Given the description of an element on the screen output the (x, y) to click on. 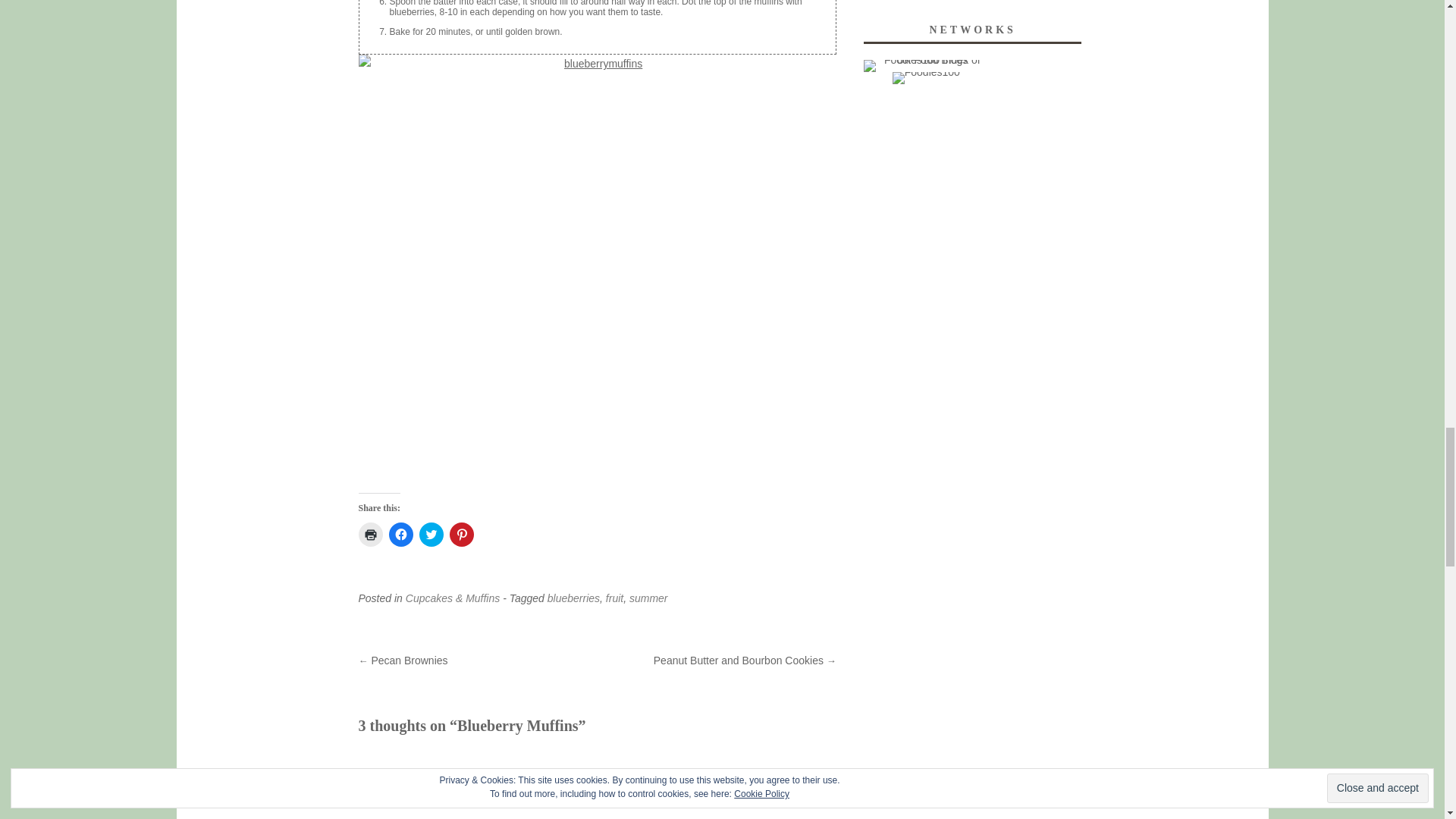
Click to share on Facebook (400, 534)
Foodies100 (925, 78)
Foodies100 (925, 71)
blueberries (573, 598)
Foodies100 Index of UK Food Blogs (925, 60)
Click to print (369, 534)
Click to share on Pinterest (460, 534)
June 24, 2013 at 20:12 (462, 798)
Click to share on Twitter (430, 534)
VIEF (430, 778)
